Given the description of an element on the screen output the (x, y) to click on. 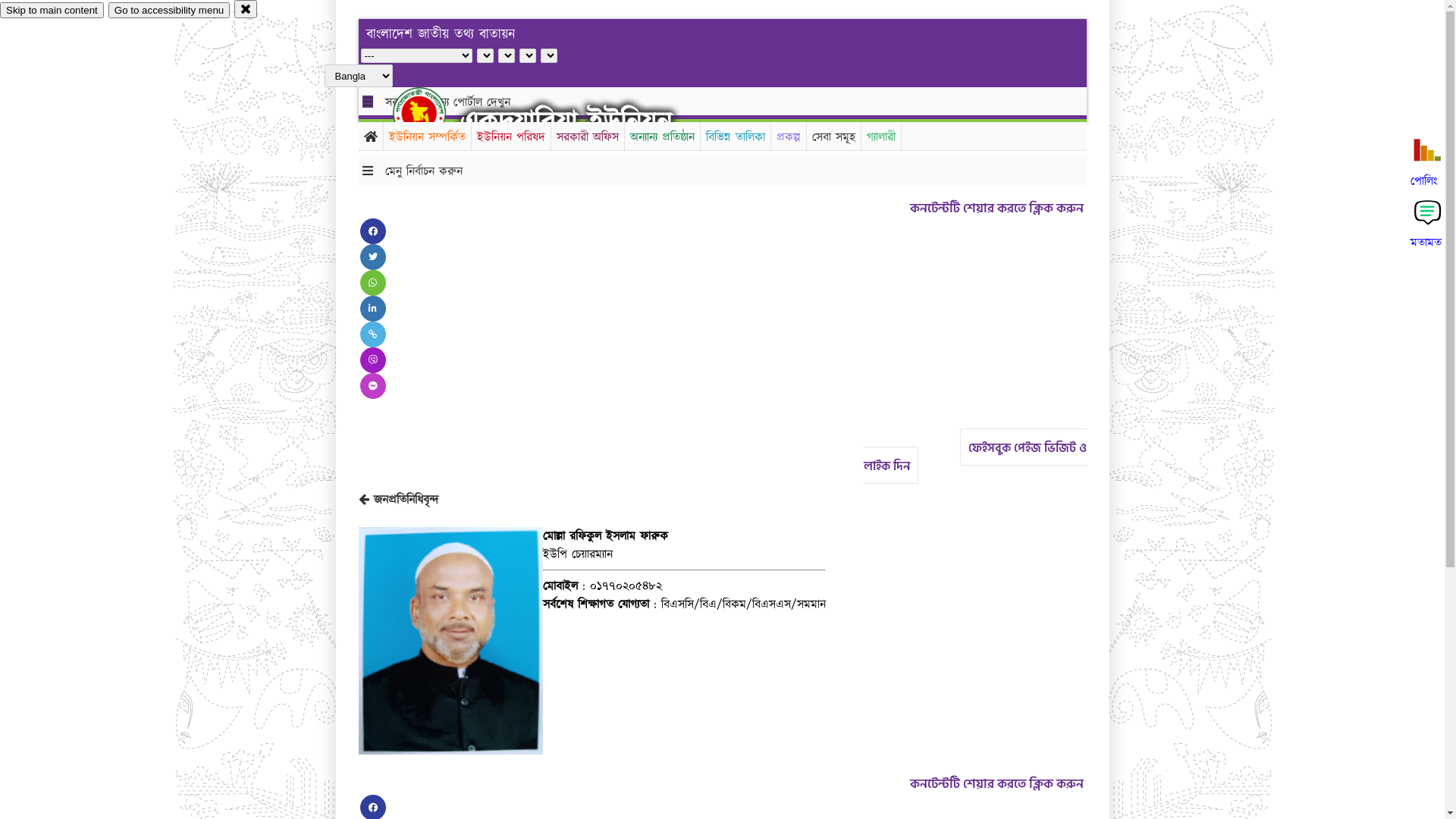
Go to accessibility menu Element type: text (168, 10)
close Element type: hover (245, 9)

                
             Element type: hover (431, 112)
Skip to main content Element type: text (51, 10)
